Given the description of an element on the screen output the (x, y) to click on. 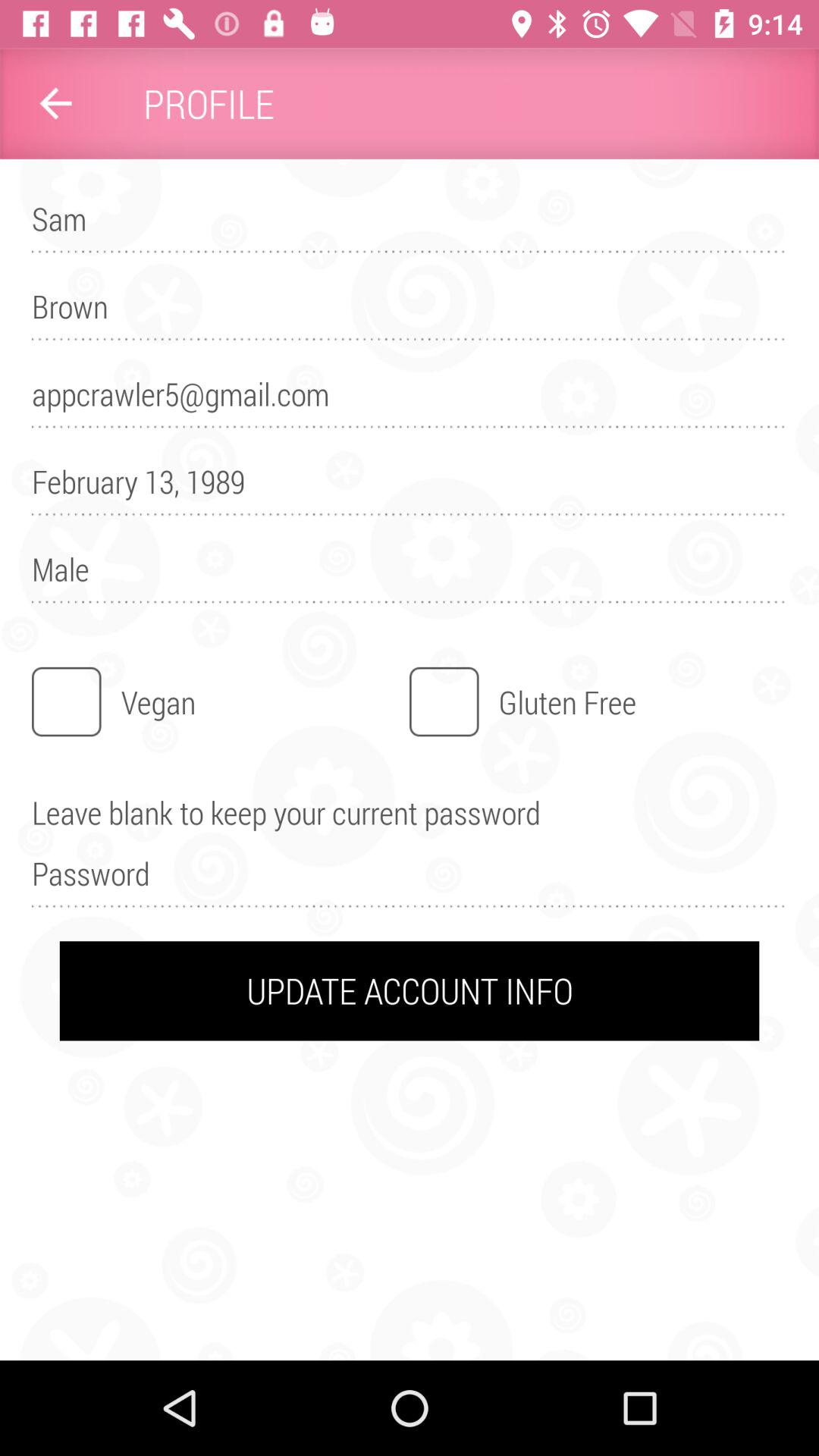
click the item below the appcrawler5@gmail.com item (409, 488)
